Given the description of an element on the screen output the (x, y) to click on. 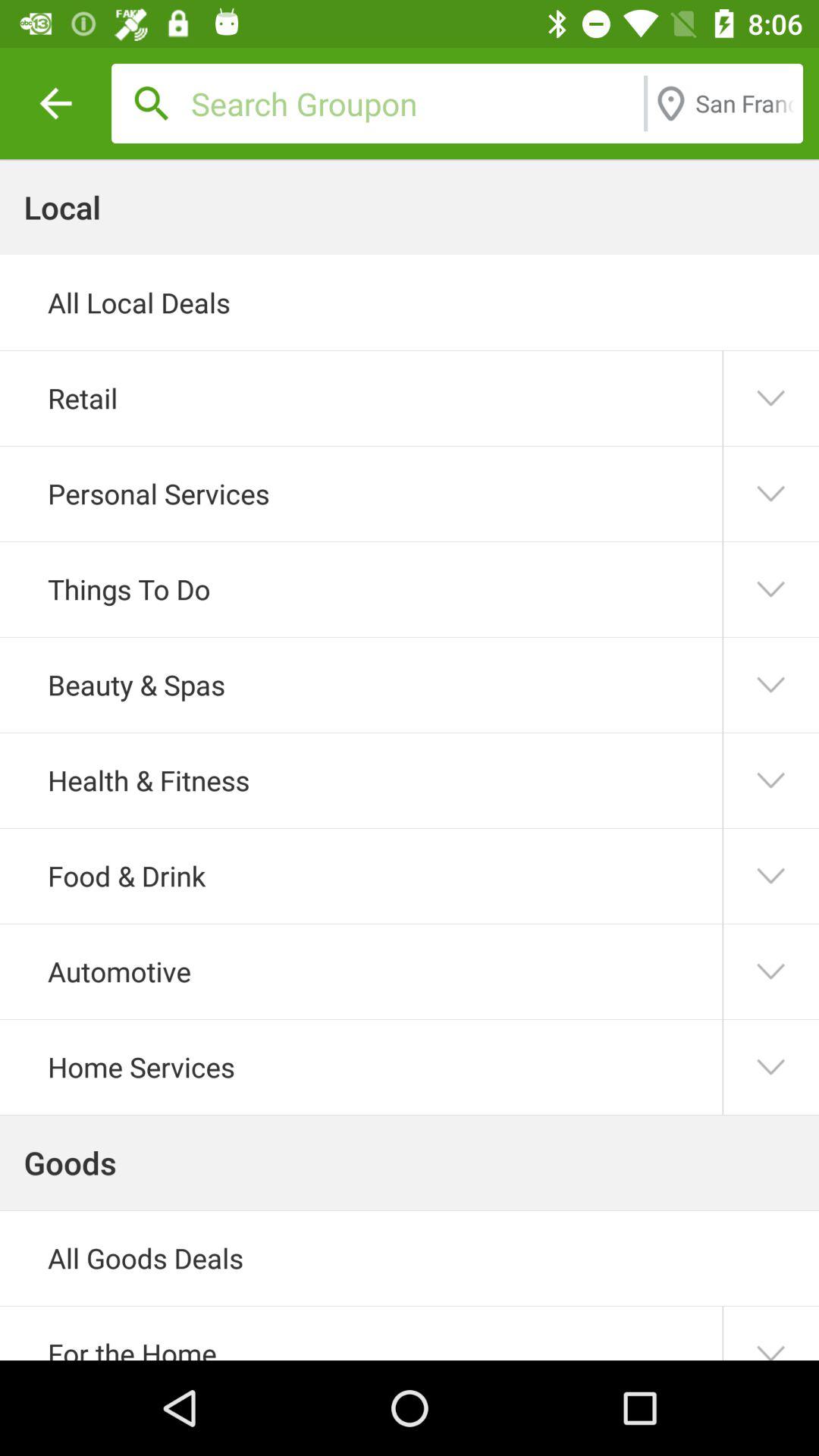
turn on the san francisco, ca icon (745, 103)
